Given the description of an element on the screen output the (x, y) to click on. 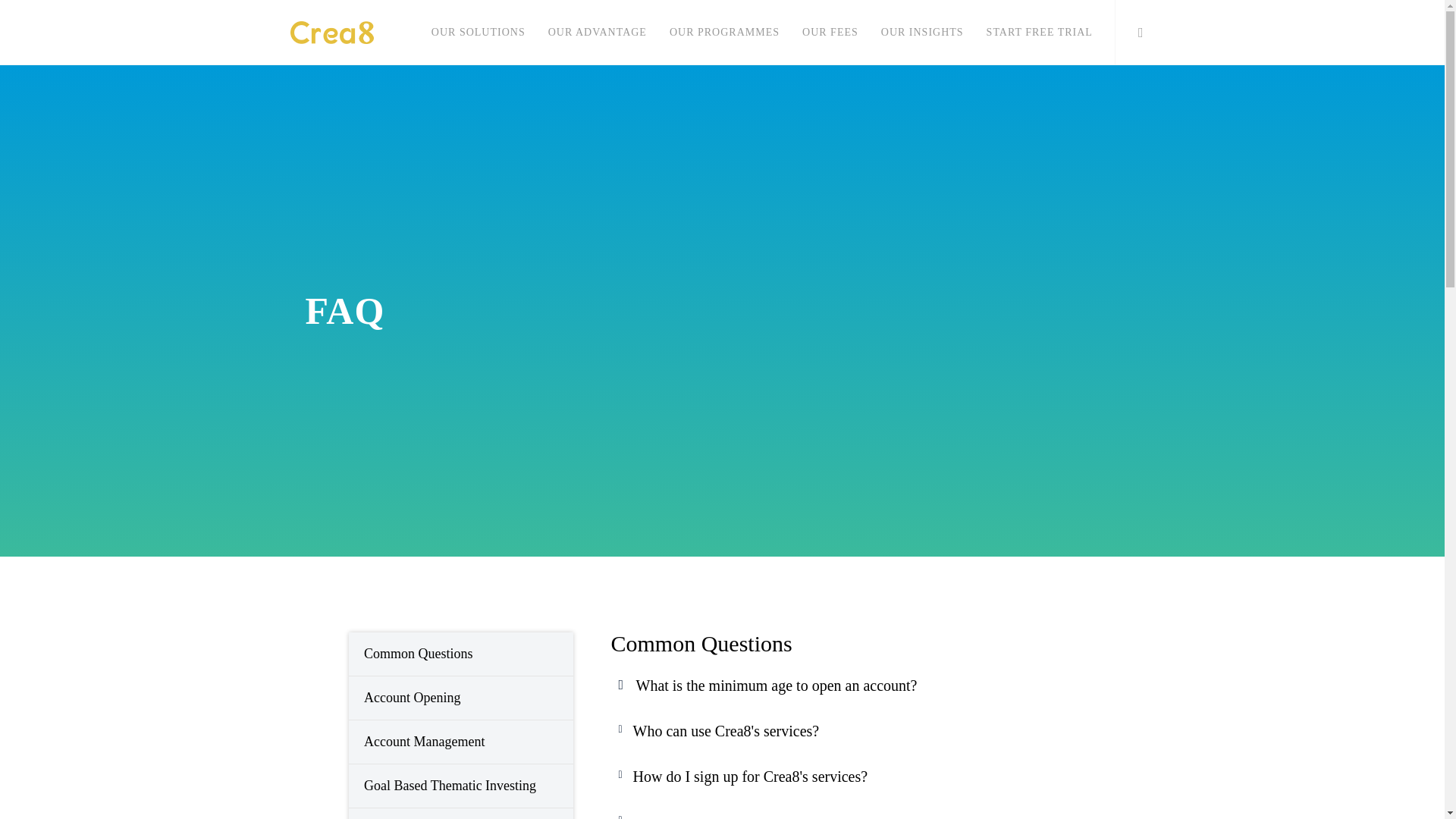
Common Questions (461, 653)
Who can use Crea8's services? (724, 730)
Our Advantage (597, 32)
OUR PROGRAMMES (724, 32)
Goal Based Thematic Investing (461, 785)
How do I sign up for Crea8's services? (749, 776)
Factor Based Thematic Investing (461, 813)
START FREE TRIAL (1039, 32)
What is the minimum age to open an account? (775, 685)
Account Opening (461, 697)
OUR SOLUTIONS (478, 32)
Our Programmes (724, 32)
Our Insights (922, 32)
OUR FEES (829, 32)
Our Fees (829, 32)
